Given the description of an element on the screen output the (x, y) to click on. 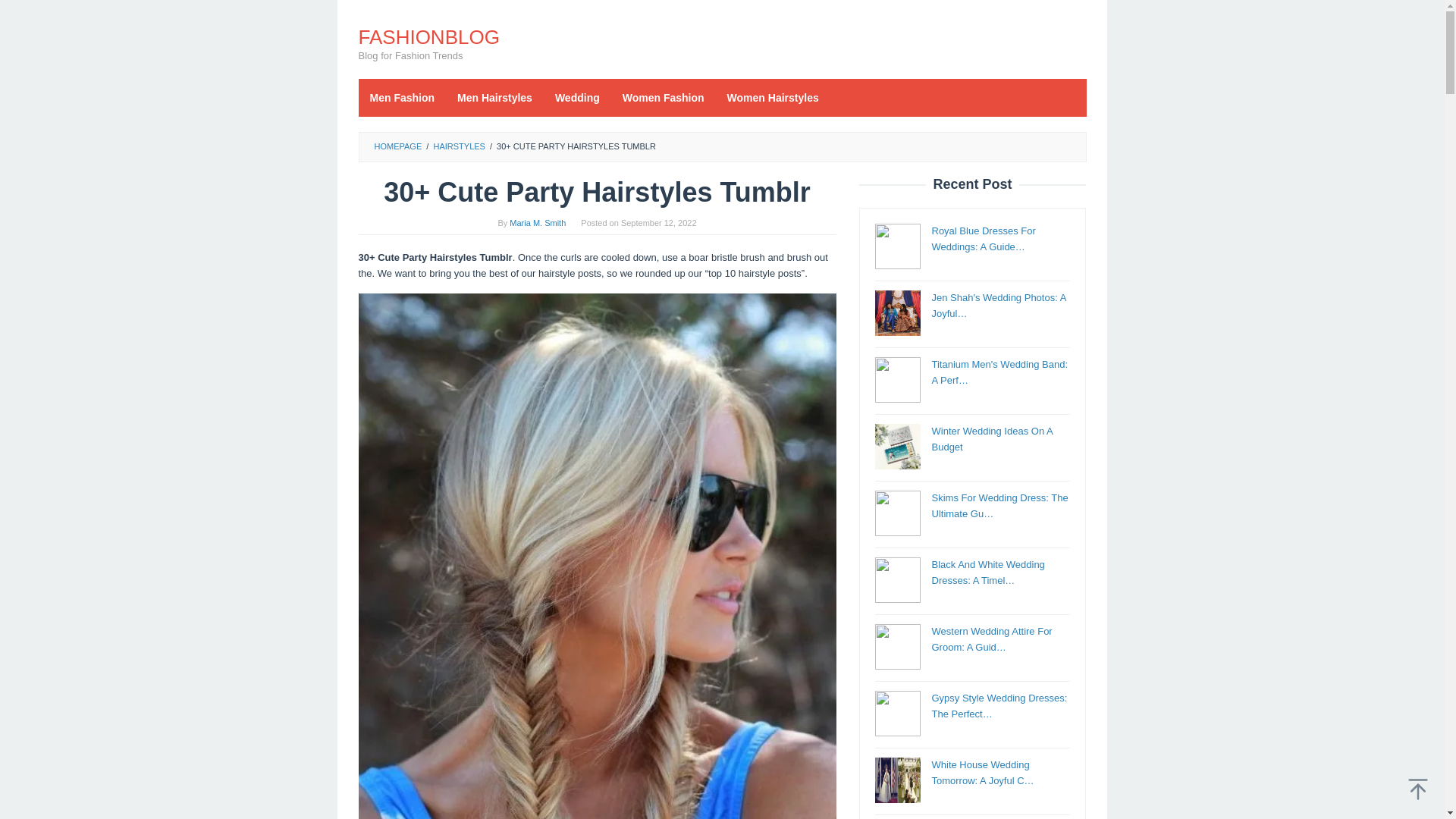
Permalink to: Maria M. Smith (537, 222)
Winter Wedding Ideas On A Budget (991, 438)
Wedding (577, 97)
FASHIONBLOG (428, 36)
HAIRSTYLES (458, 145)
Men Hairstyles (494, 97)
FASHIONBLOG (428, 36)
Maria M. Smith (537, 222)
Men Fashion (401, 97)
